Given the description of an element on the screen output the (x, y) to click on. 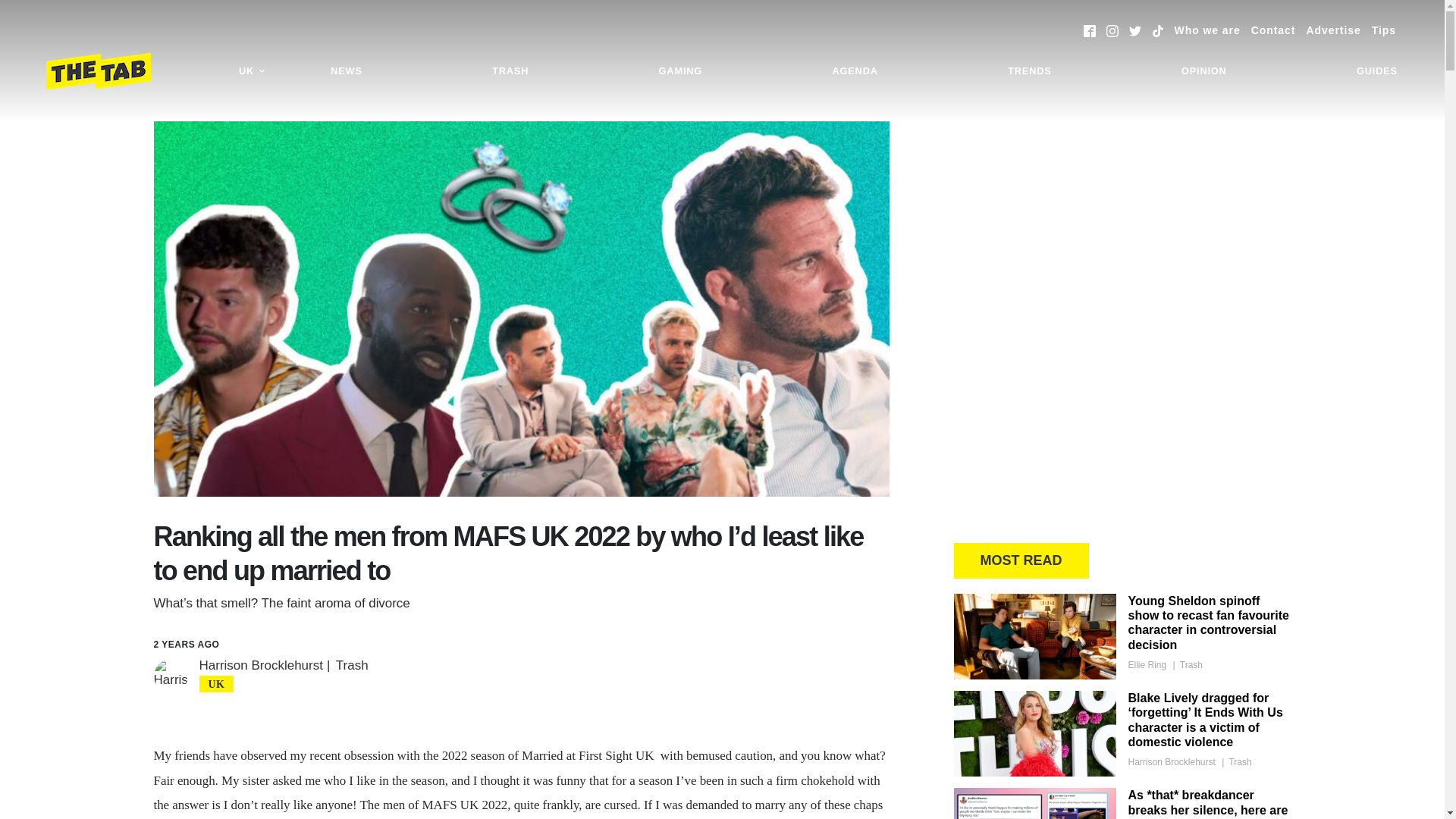
Contact (1272, 29)
UK (252, 71)
AGENDA (854, 71)
Who we are (1207, 29)
Tips (1383, 29)
Advertise (1332, 29)
GUIDES (1377, 71)
OPINION (1204, 71)
NEWS (346, 71)
TRENDS (1028, 71)
